Given the description of an element on the screen output the (x, y) to click on. 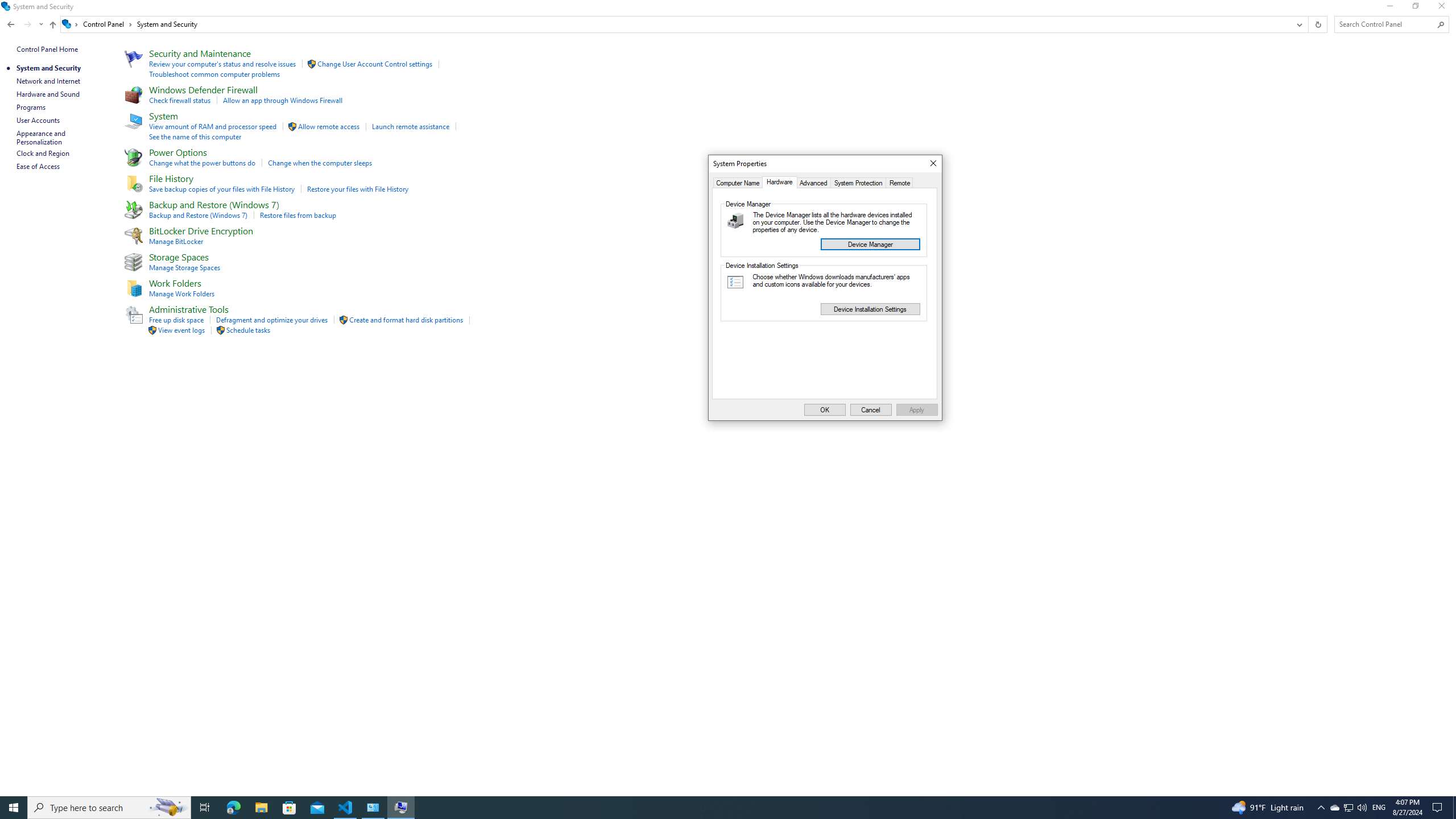
Device Installation Settings (869, 308)
Running applications (706, 807)
